Given the description of an element on the screen output the (x, y) to click on. 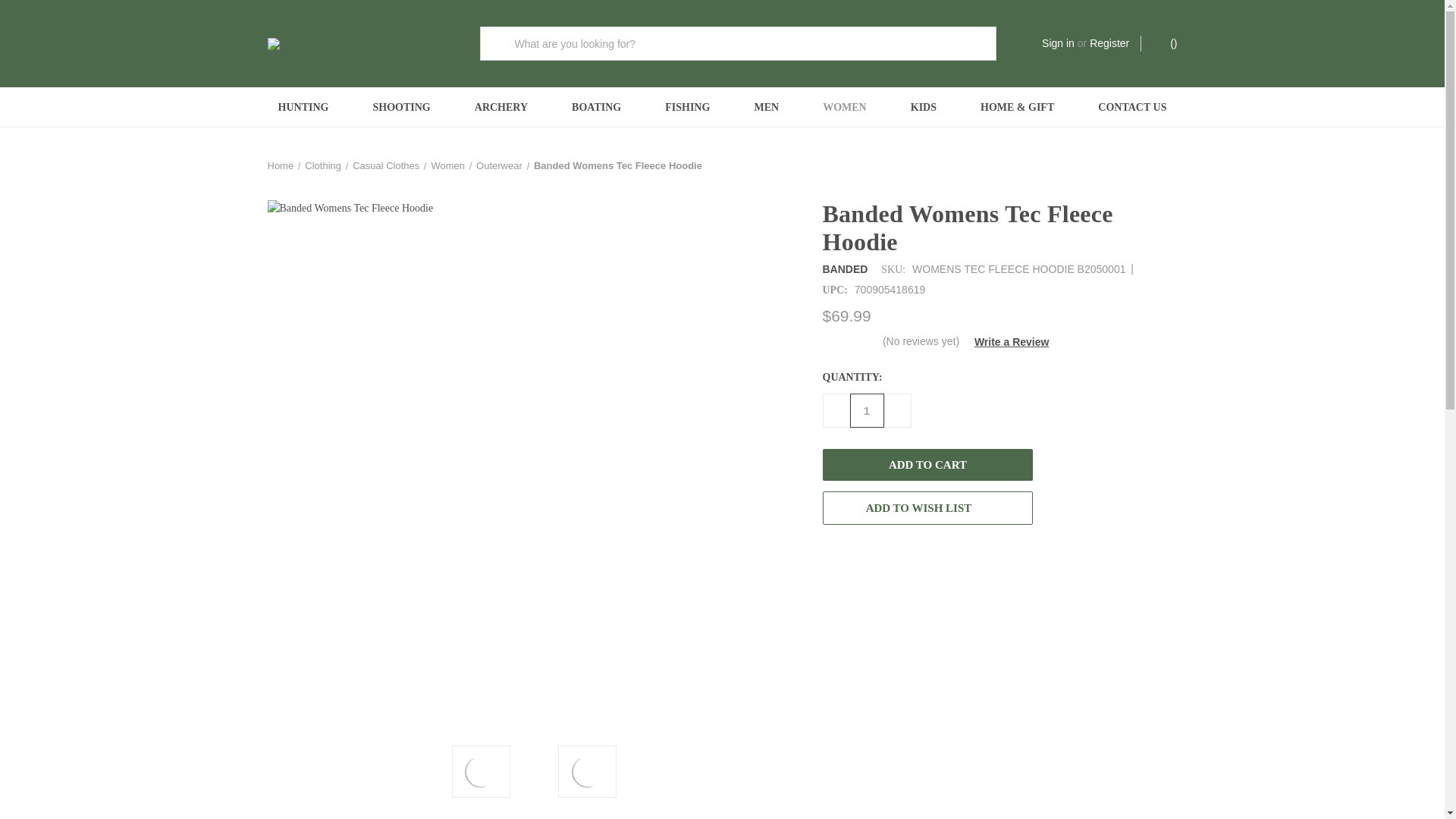
Register (1109, 43)
Banded Womens Tec Fleece Hoodie (480, 771)
Webb's Sporting Goods (361, 43)
HUNTING (303, 106)
Add to Cart (927, 464)
1 (865, 410)
Sign in (1058, 43)
Banded Womens Tec Fleece Hoodie (588, 771)
